Given the description of an element on the screen output the (x, y) to click on. 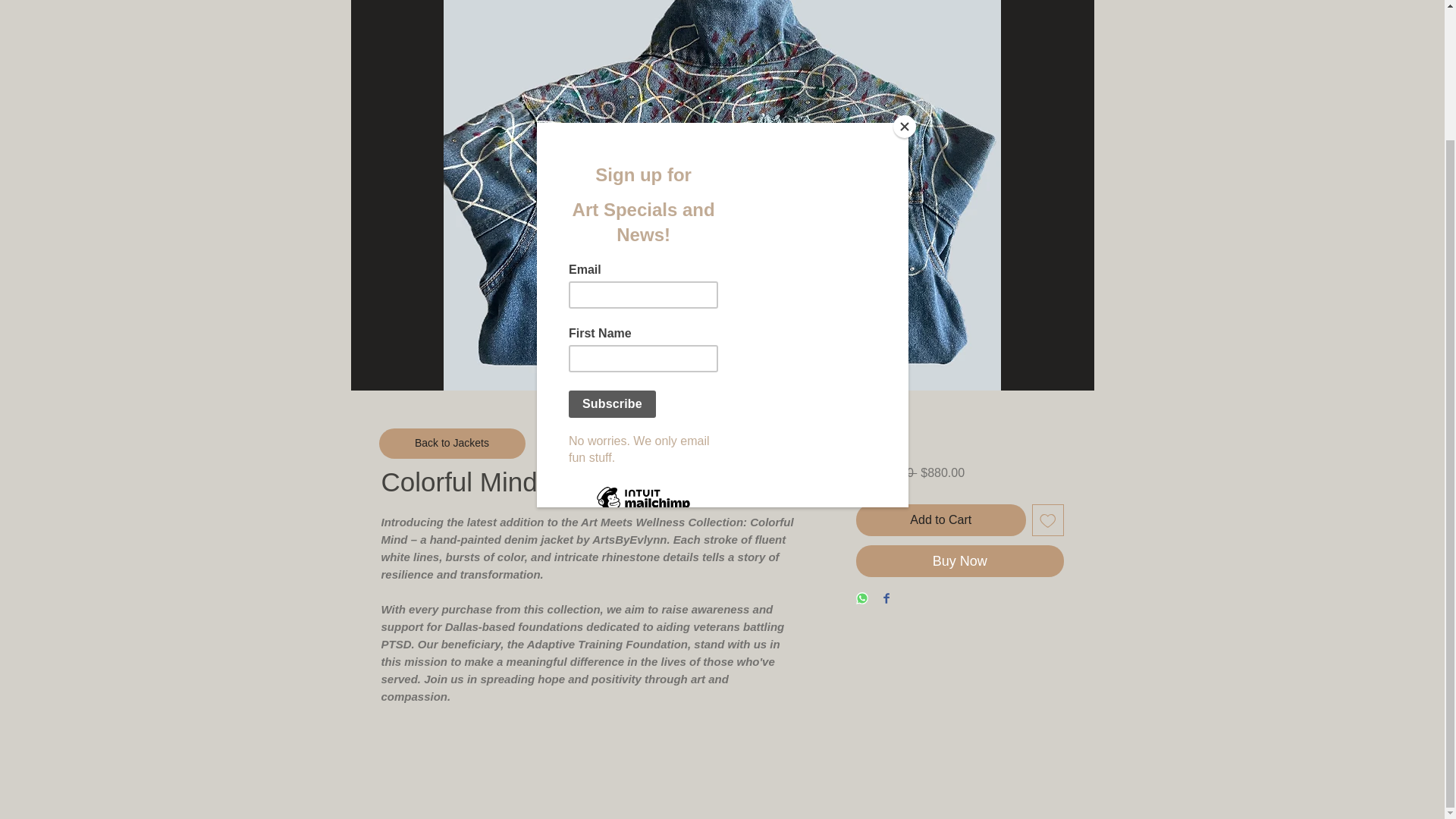
Buy Now (959, 561)
Add to Cart (940, 520)
Back to Jackets (451, 443)
